Given the description of an element on the screen output the (x, y) to click on. 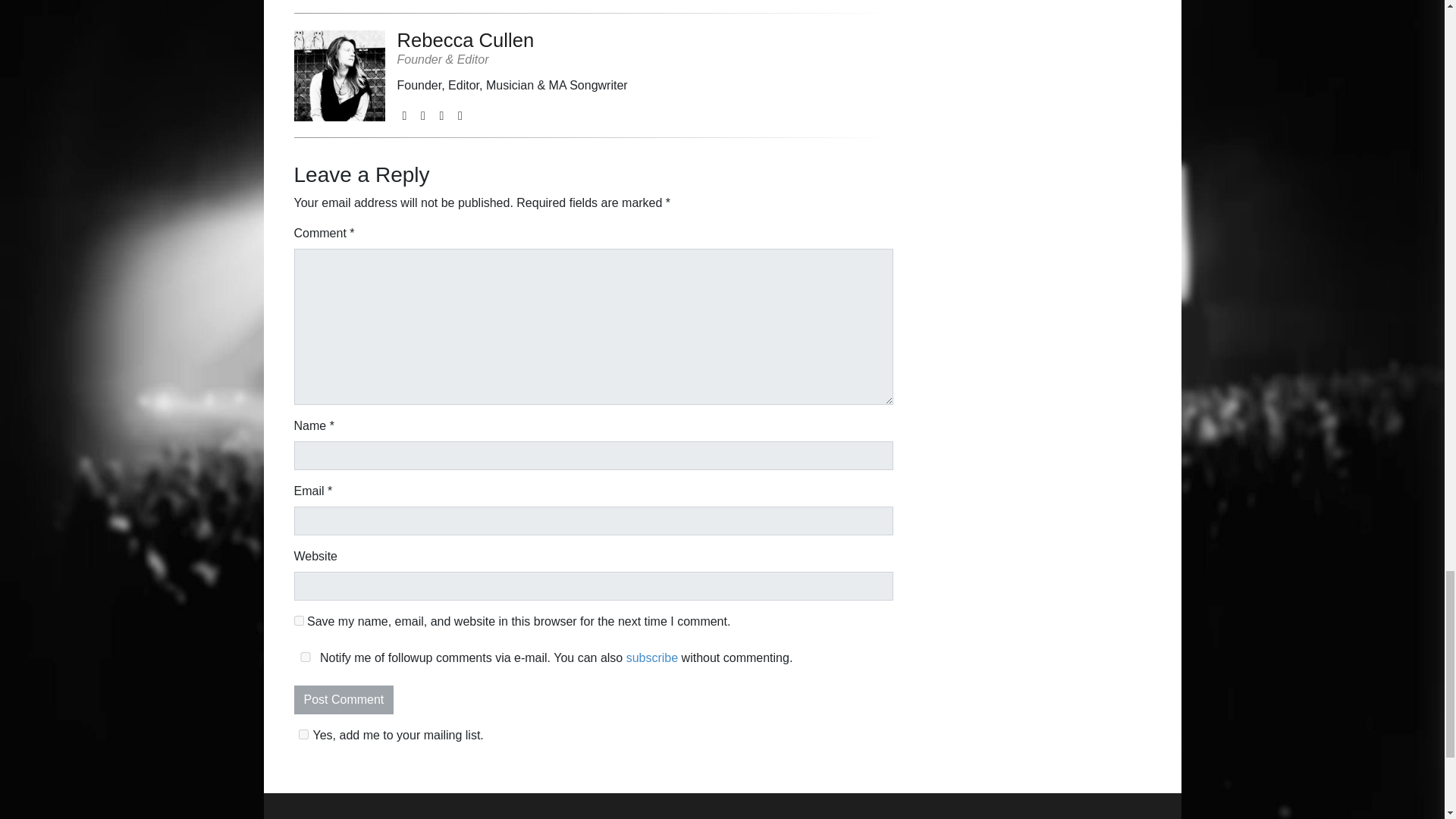
yes (299, 620)
Post Comment (344, 699)
subscribe (652, 657)
yes (305, 656)
Rebecca Cullen (512, 39)
Post Comment (344, 699)
1 (303, 734)
